Given the description of an element on the screen output the (x, y) to click on. 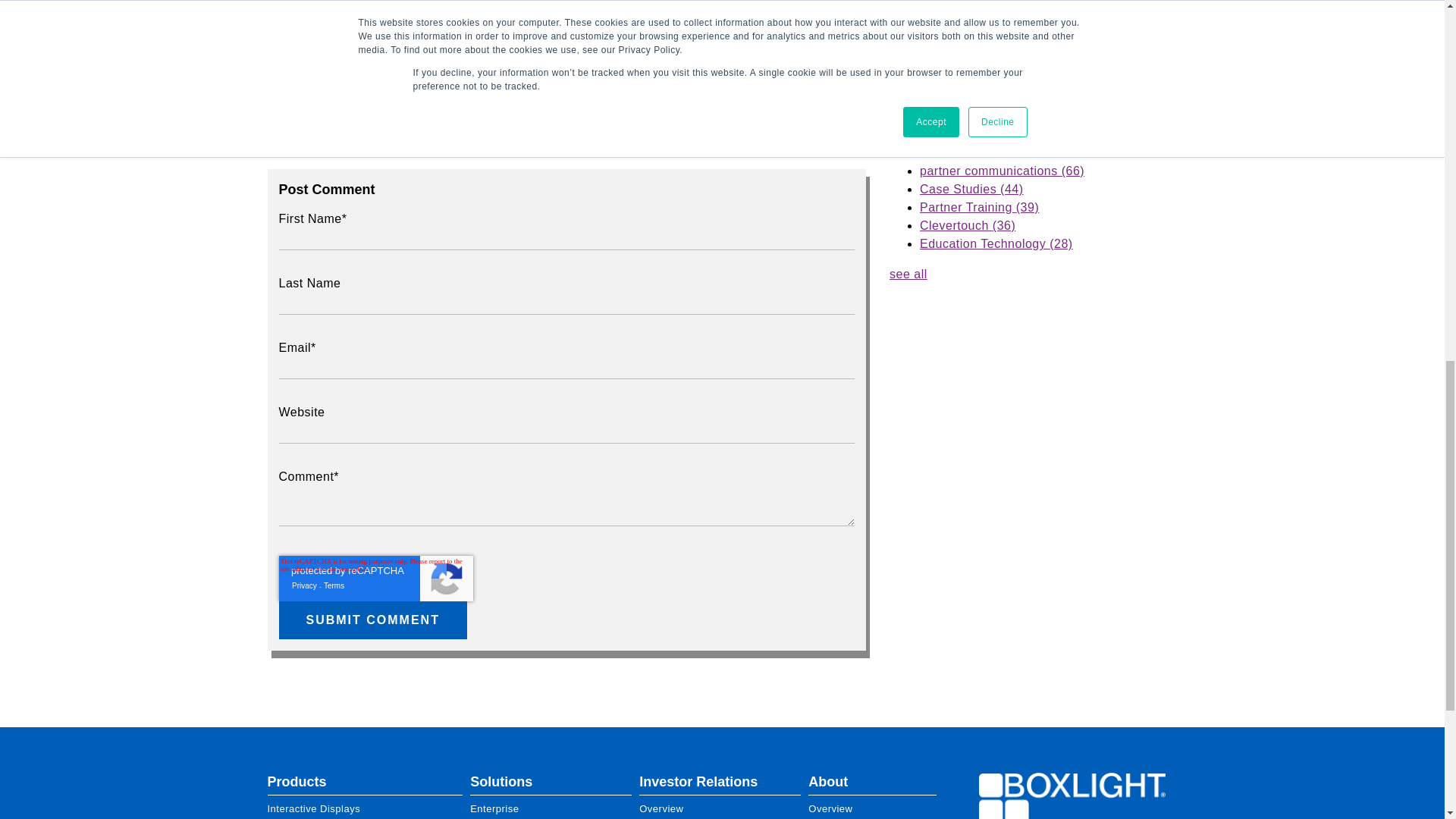
Submit Comment (373, 620)
reCAPTCHA (376, 578)
Submit Comment (373, 620)
Product Announcement (378, 93)
Boxlight Partner News: New Price Sheets Released (1038, 57)
Boxlight (1072, 796)
